Given the description of an element on the screen output the (x, y) to click on. 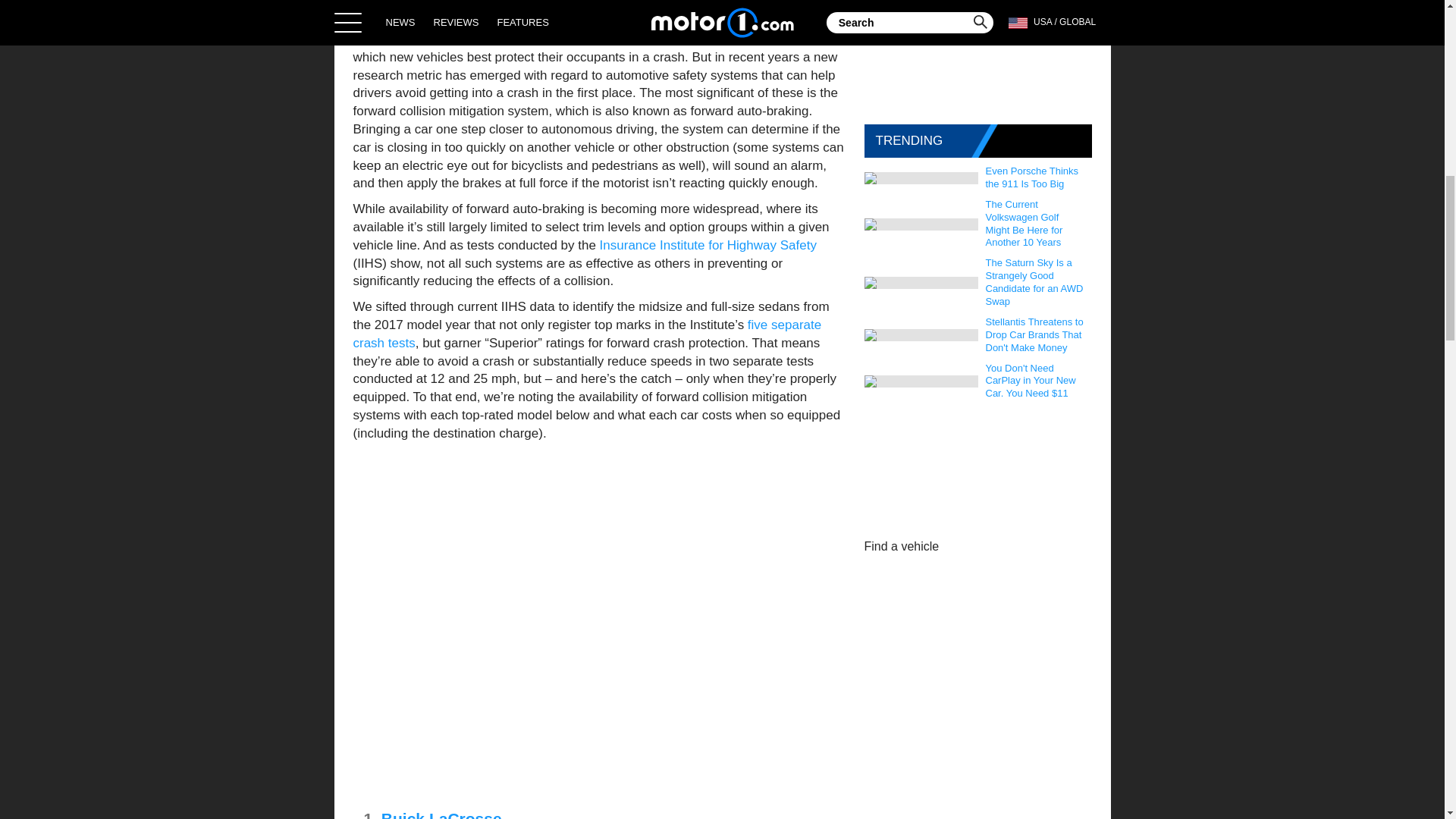
Buick LaCrosse (441, 814)
five separate crash tests (587, 333)
Insurance Institute for Highway Safety (707, 245)
